Given the description of an element on the screen output the (x, y) to click on. 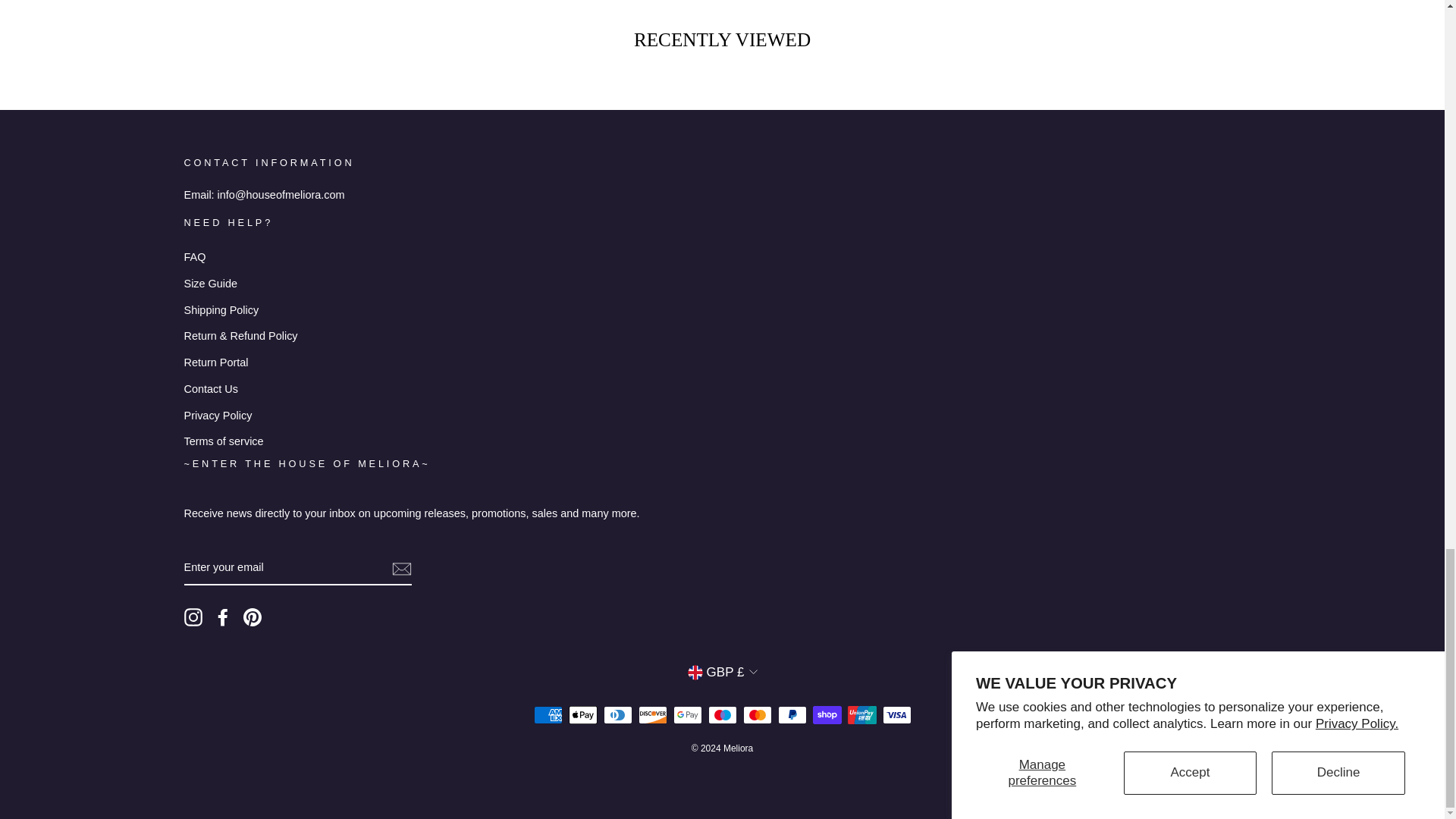
Meliora on Instagram (192, 617)
Meliora on Pinterest (251, 617)
Meliora on Facebook (222, 617)
